Given the description of an element on the screen output the (x, y) to click on. 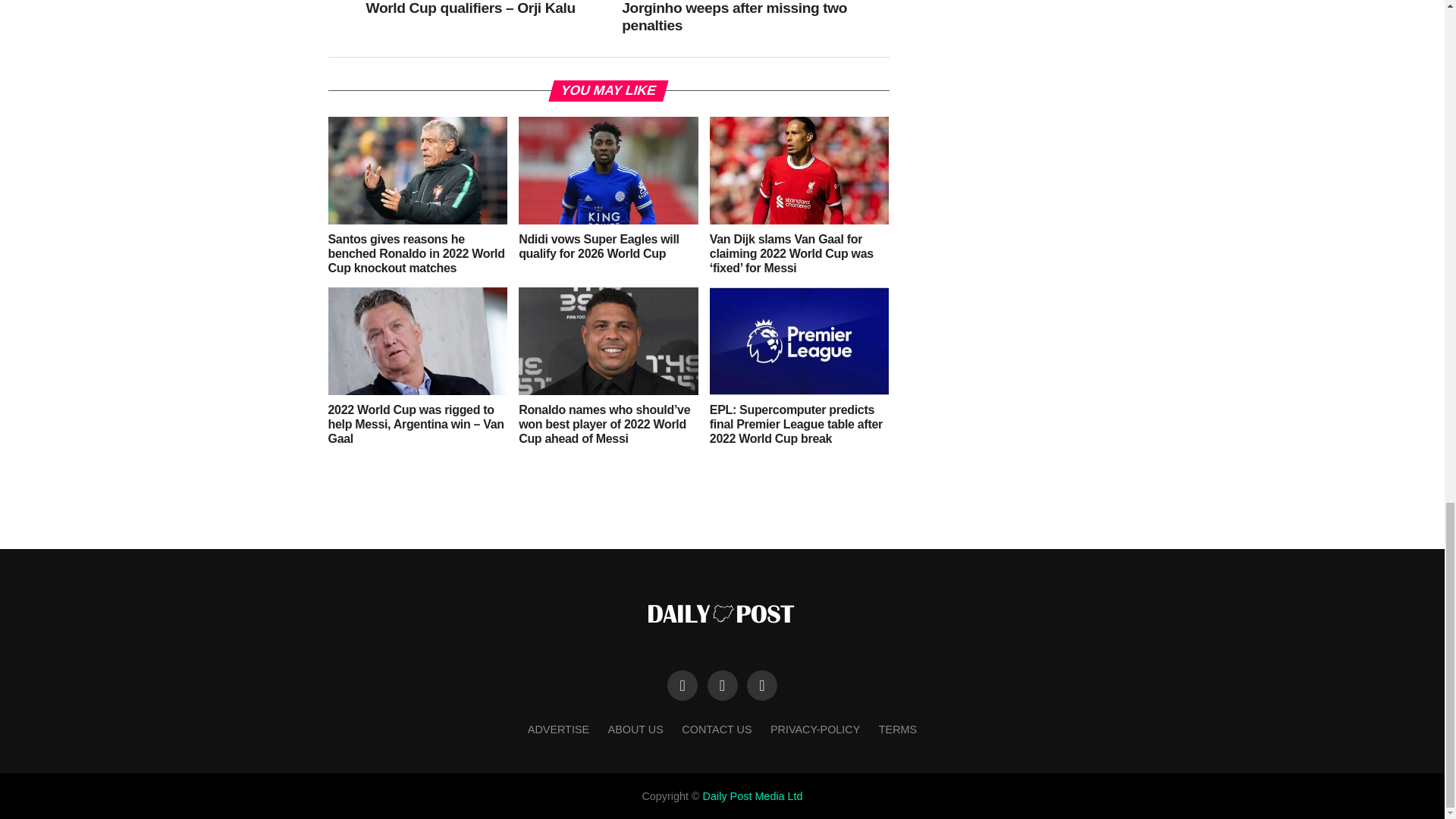
ADVERTISE (558, 729)
ABOUT US (635, 729)
